Given the description of an element on the screen output the (x, y) to click on. 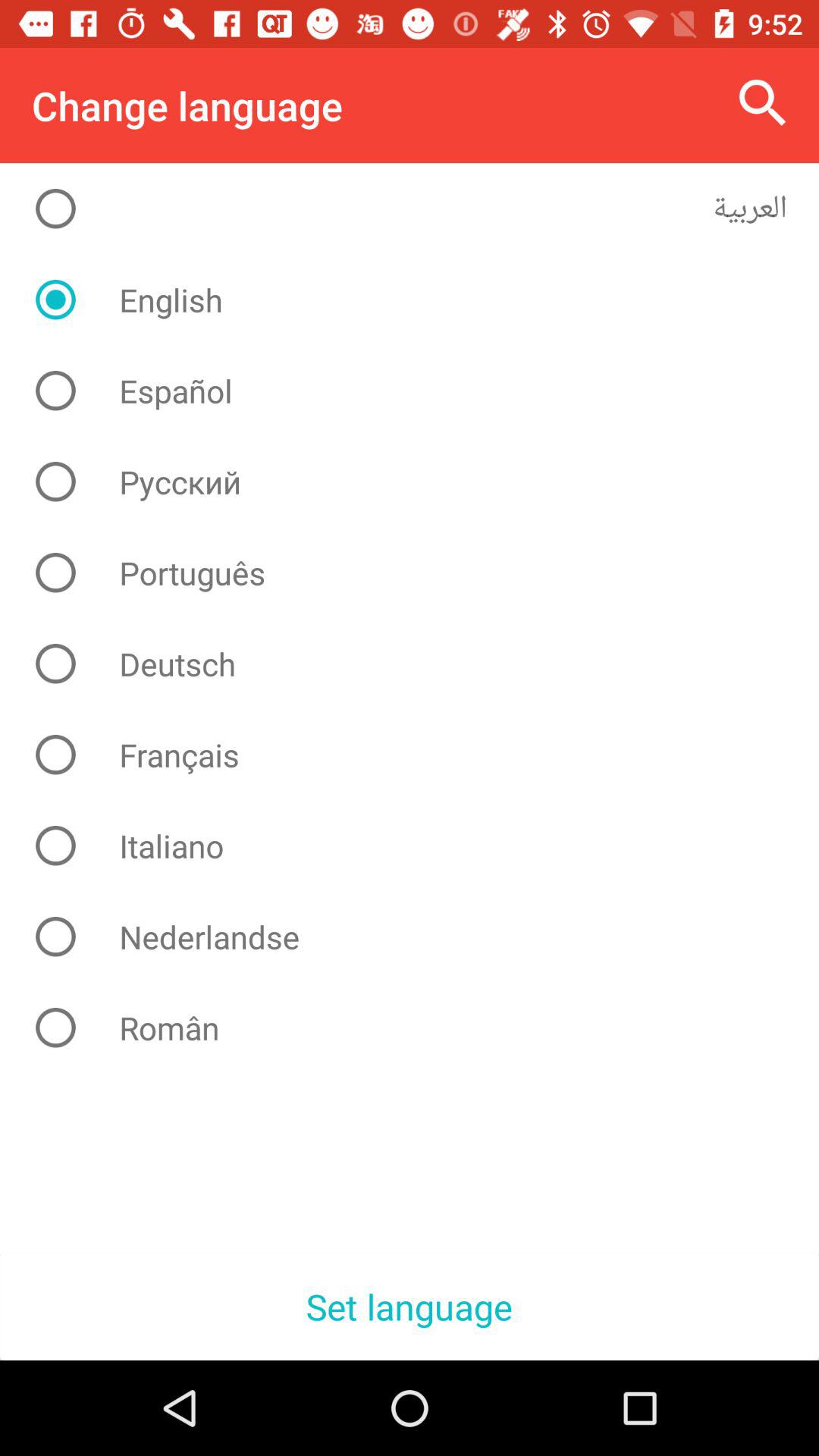
turn on icon below italiano (421, 936)
